Given the description of an element on the screen output the (x, y) to click on. 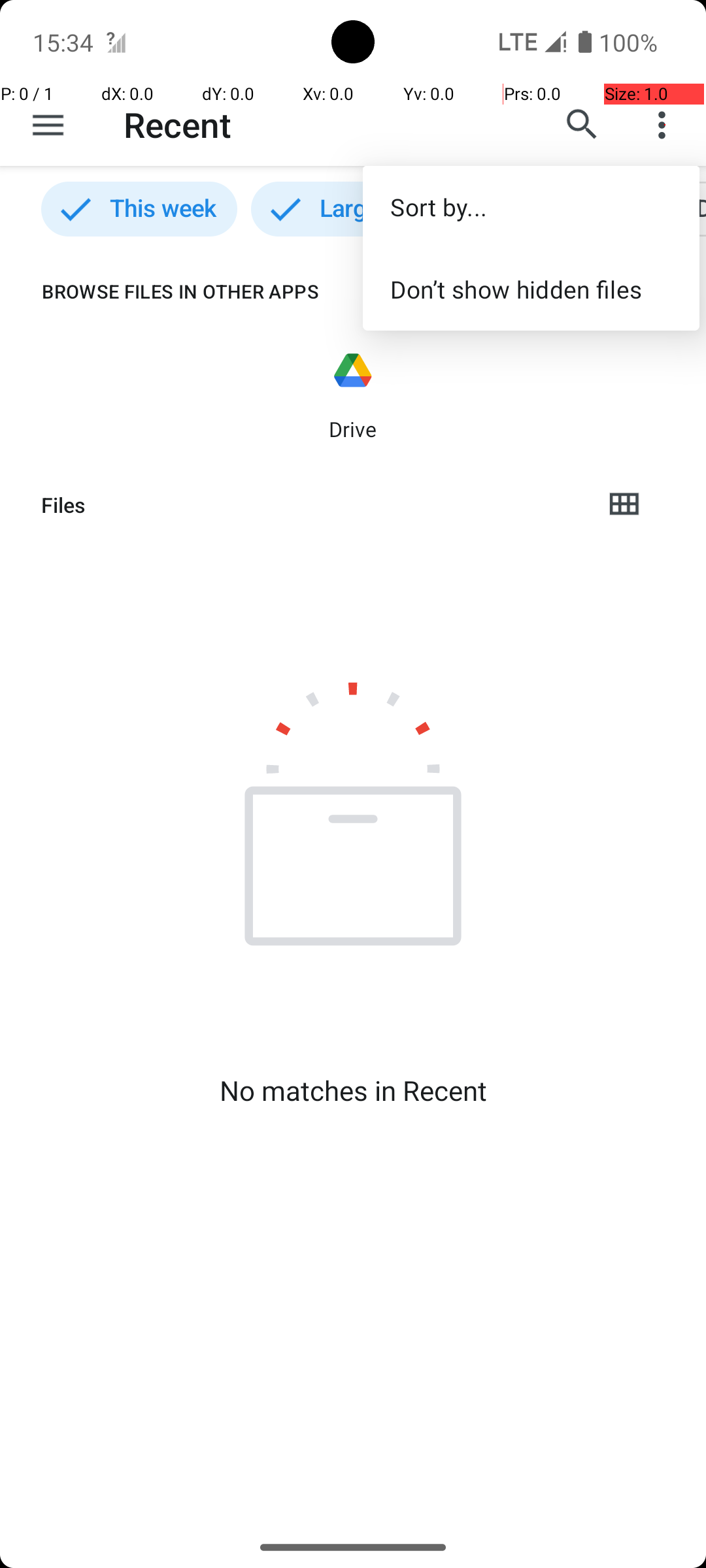
Don’t show hidden files Element type: android.widget.TextView (531, 288)
